Given the description of an element on the screen output the (x, y) to click on. 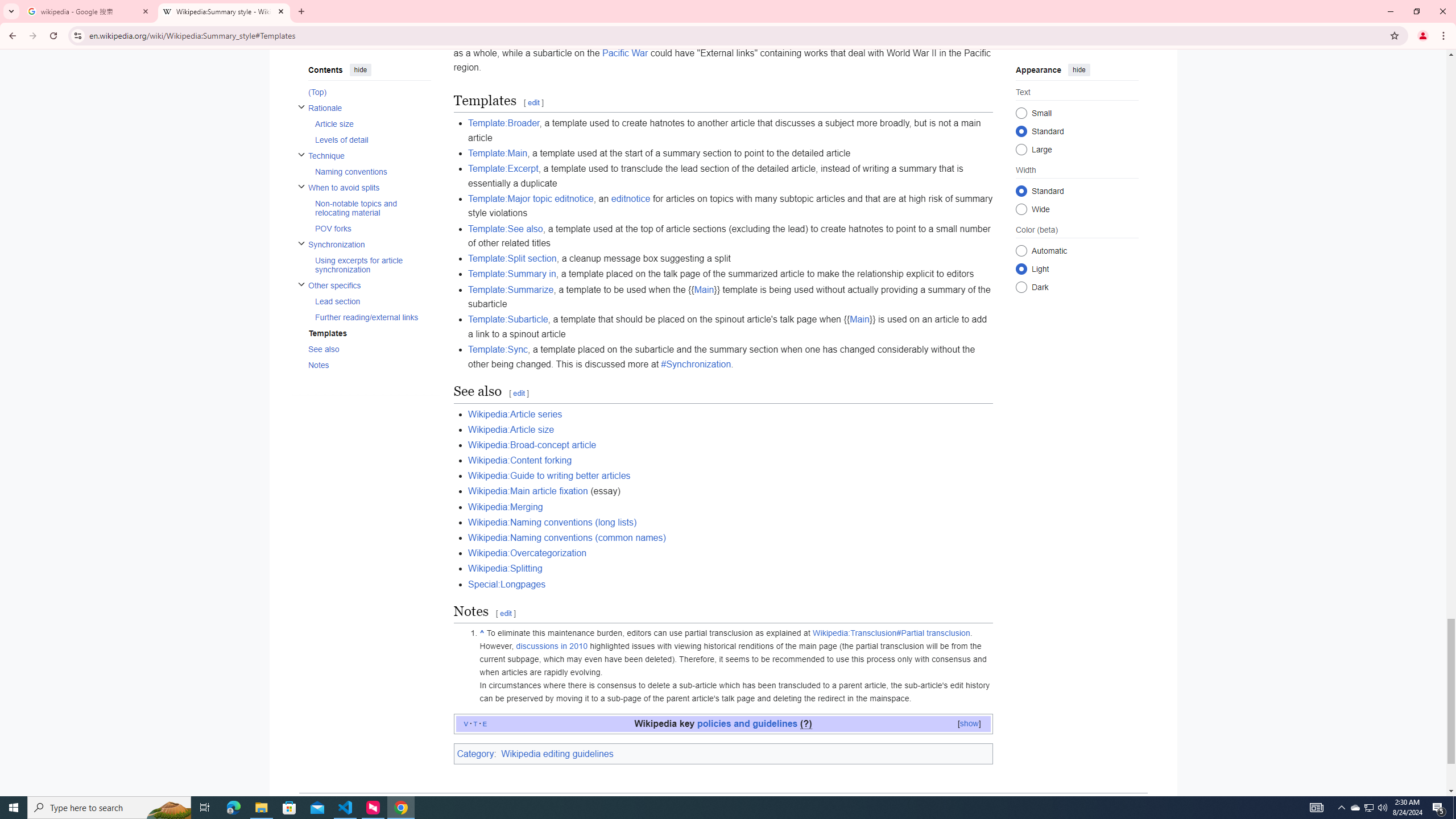
AutomationID: toc-Lead_section (368, 301)
Template:Excerpt (502, 167)
discussions in 2010 (551, 646)
Template:Broader (503, 122)
POV forks (372, 228)
AutomationID: toc-POV_forks (368, 228)
Wikipedia:Splitting (505, 568)
Wikipedia:Content forking (519, 460)
Wikipedia:Summary style - Wikipedia (224, 11)
Large (1020, 149)
Small (1020, 112)
Naming conventions (372, 170)
Toggle When to avoid splits subsection (300, 185)
